Given the description of an element on the screen output the (x, y) to click on. 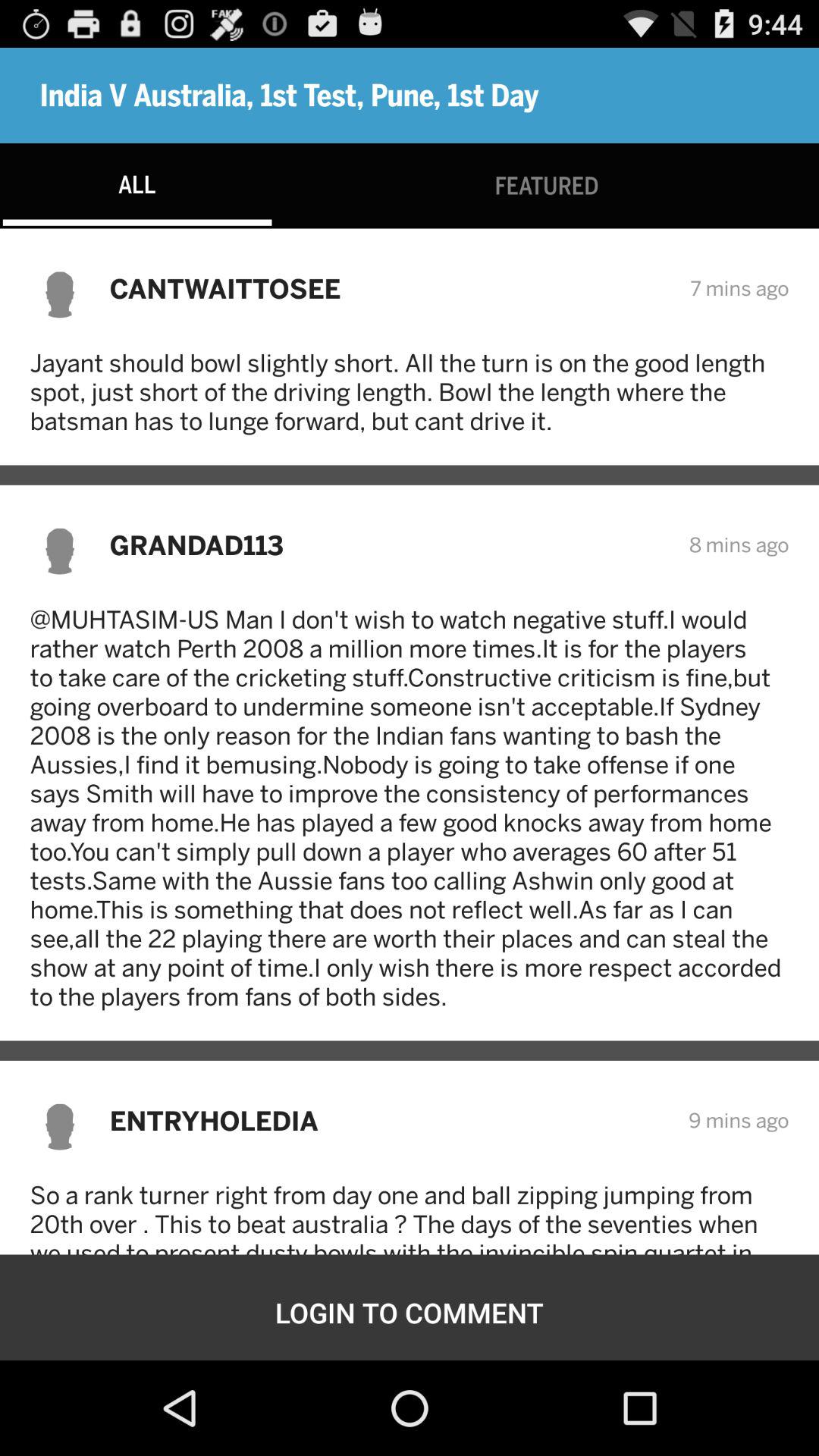
jump to the jayant should bowl item (409, 391)
